Given the description of an element on the screen output the (x, y) to click on. 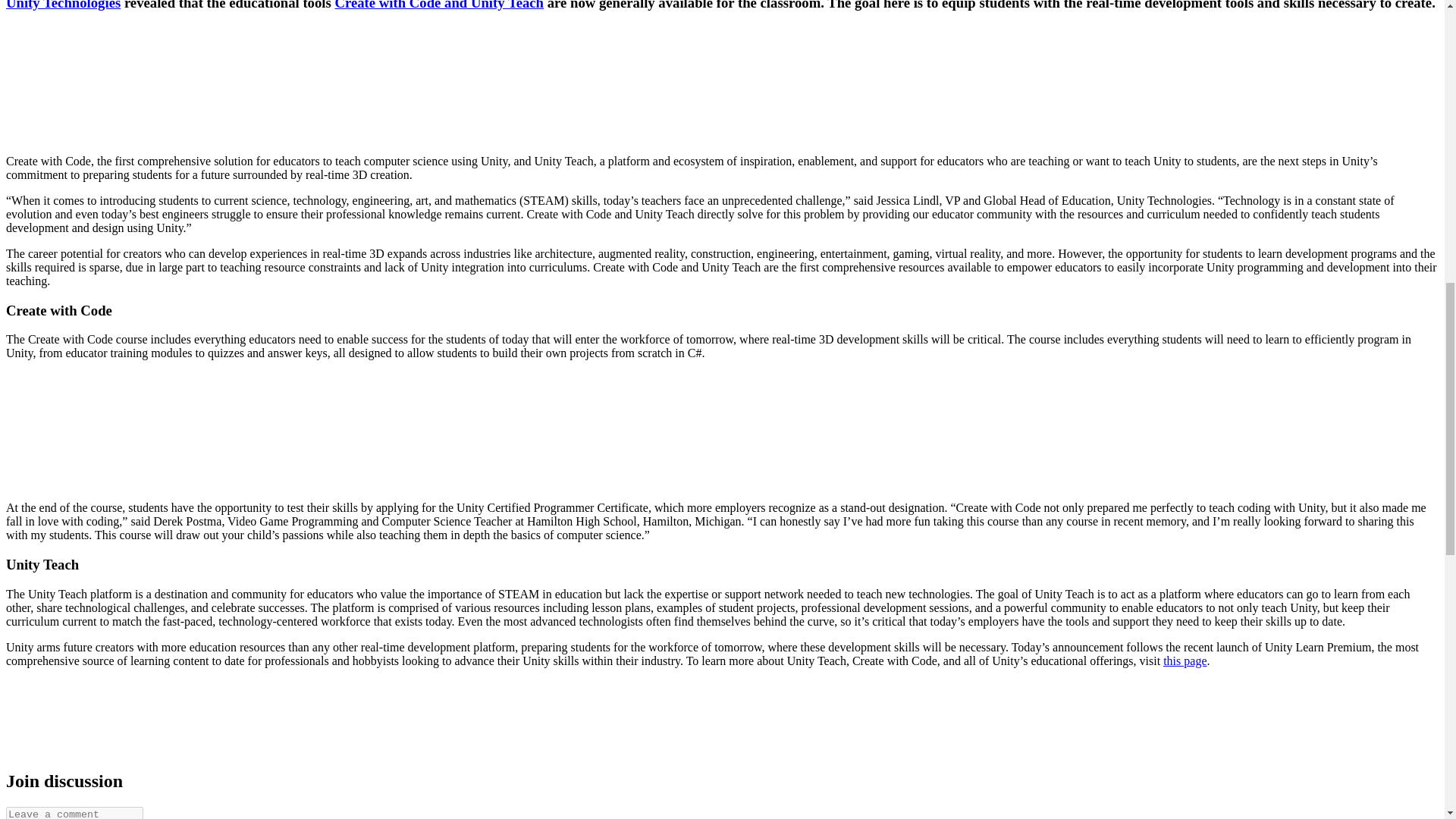
Unity Technologies (62, 5)
this page (1185, 660)
Create with Code and Unity Teach (438, 5)
